Given the description of an element on the screen output the (x, y) to click on. 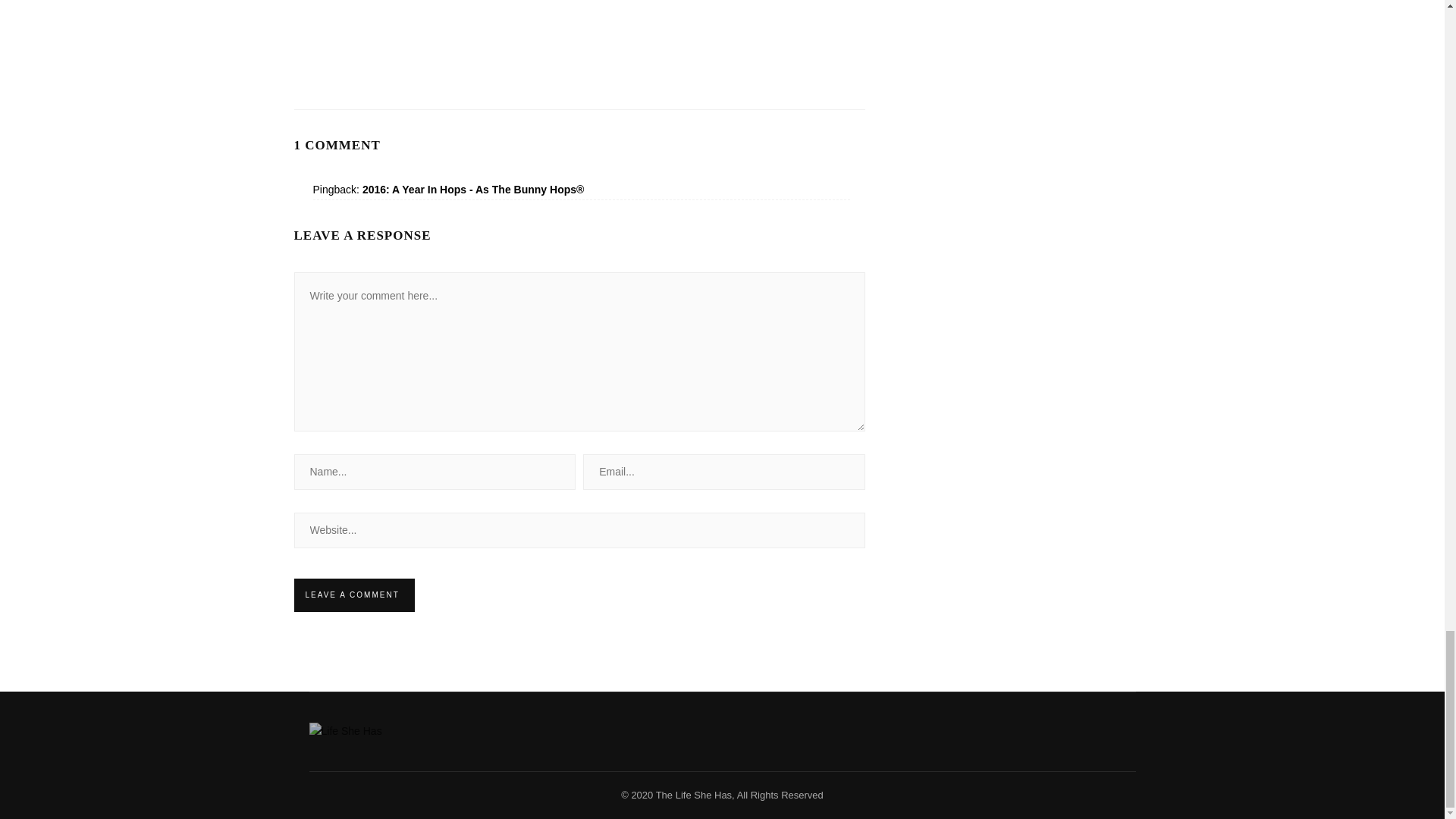
Leave a comment (351, 594)
